Given the description of an element on the screen output the (x, y) to click on. 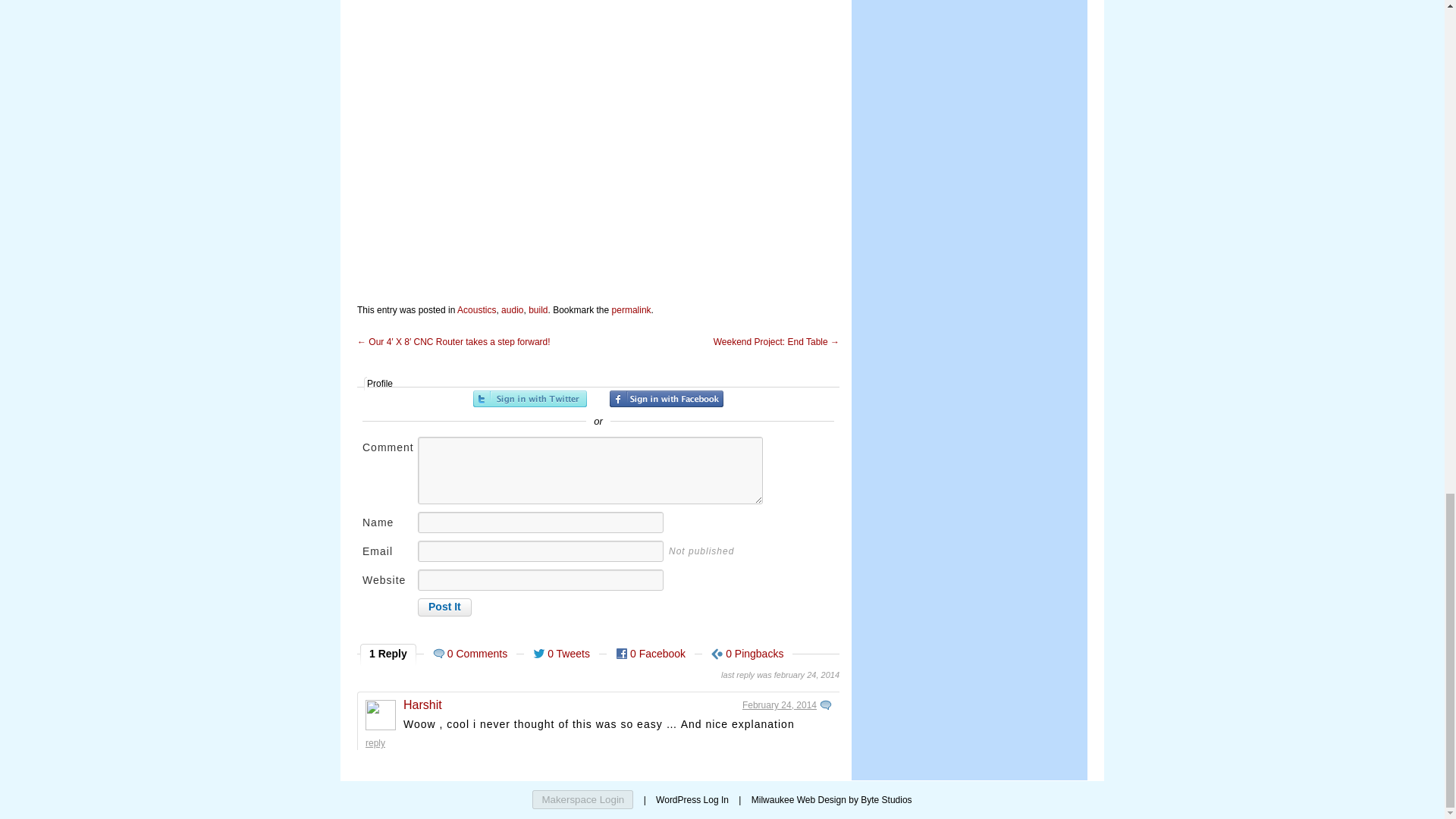
Permalink to PVC Musical Headboard Build (630, 309)
Makerspace Login (582, 799)
Acoustics (476, 309)
Milwaukee Web Design (798, 799)
permalink (630, 309)
Makerspace Login (582, 799)
build (537, 309)
Sign in with Twitter (529, 398)
PVC Musical Headboard Timelapse (599, 131)
Post It (444, 606)
audio (511, 309)
Sign in with Facebook (666, 398)
1 Reply (389, 653)
Post It (444, 606)
